Given the description of an element on the screen output the (x, y) to click on. 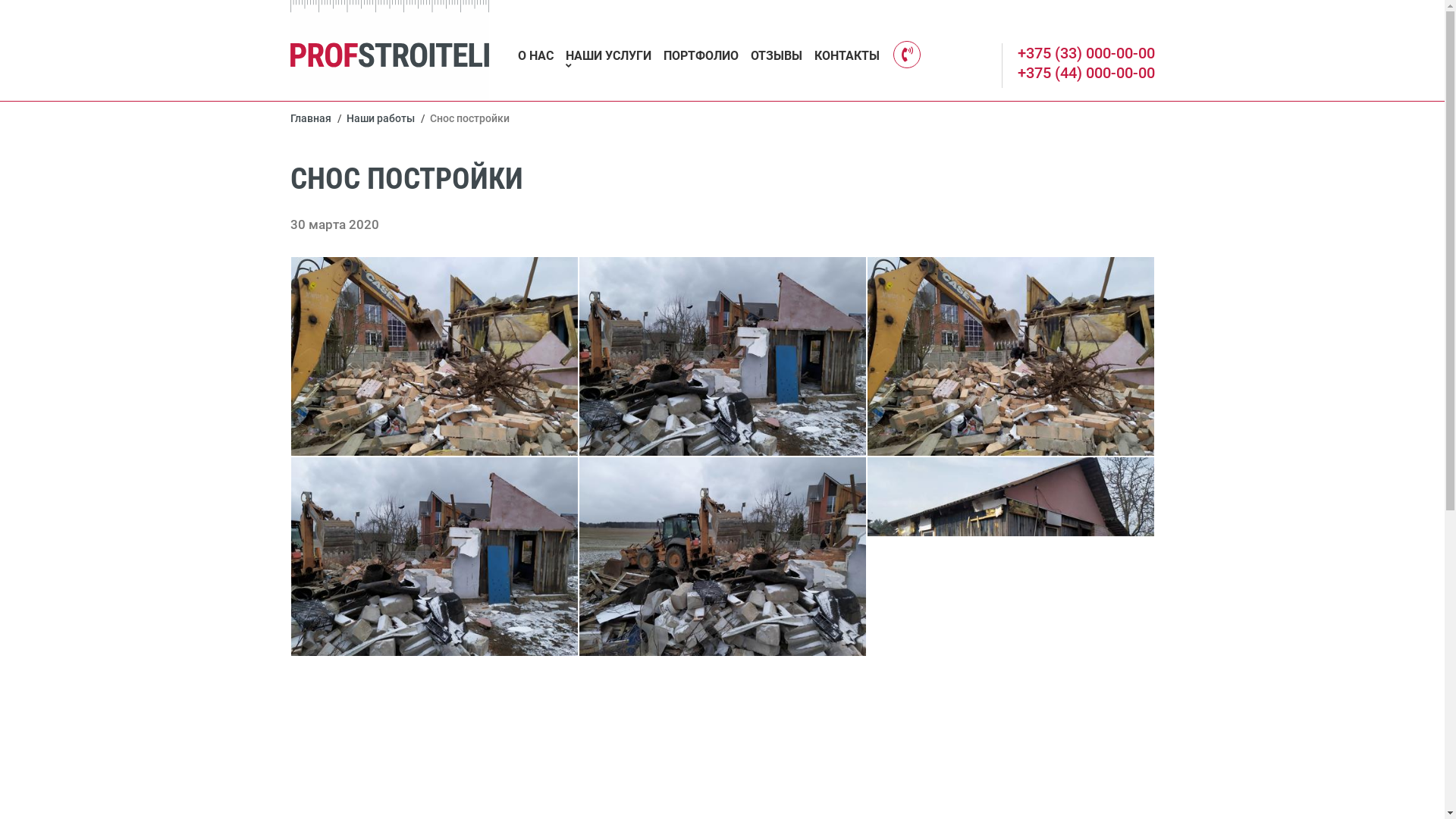
+375 (44) 000-00-00 Element type: text (1085, 72)
ProfStroiteli Element type: hover (389, 50)
+375 (33) 000-00-00 Element type: text (1085, 52)
